Given the description of an element on the screen output the (x, y) to click on. 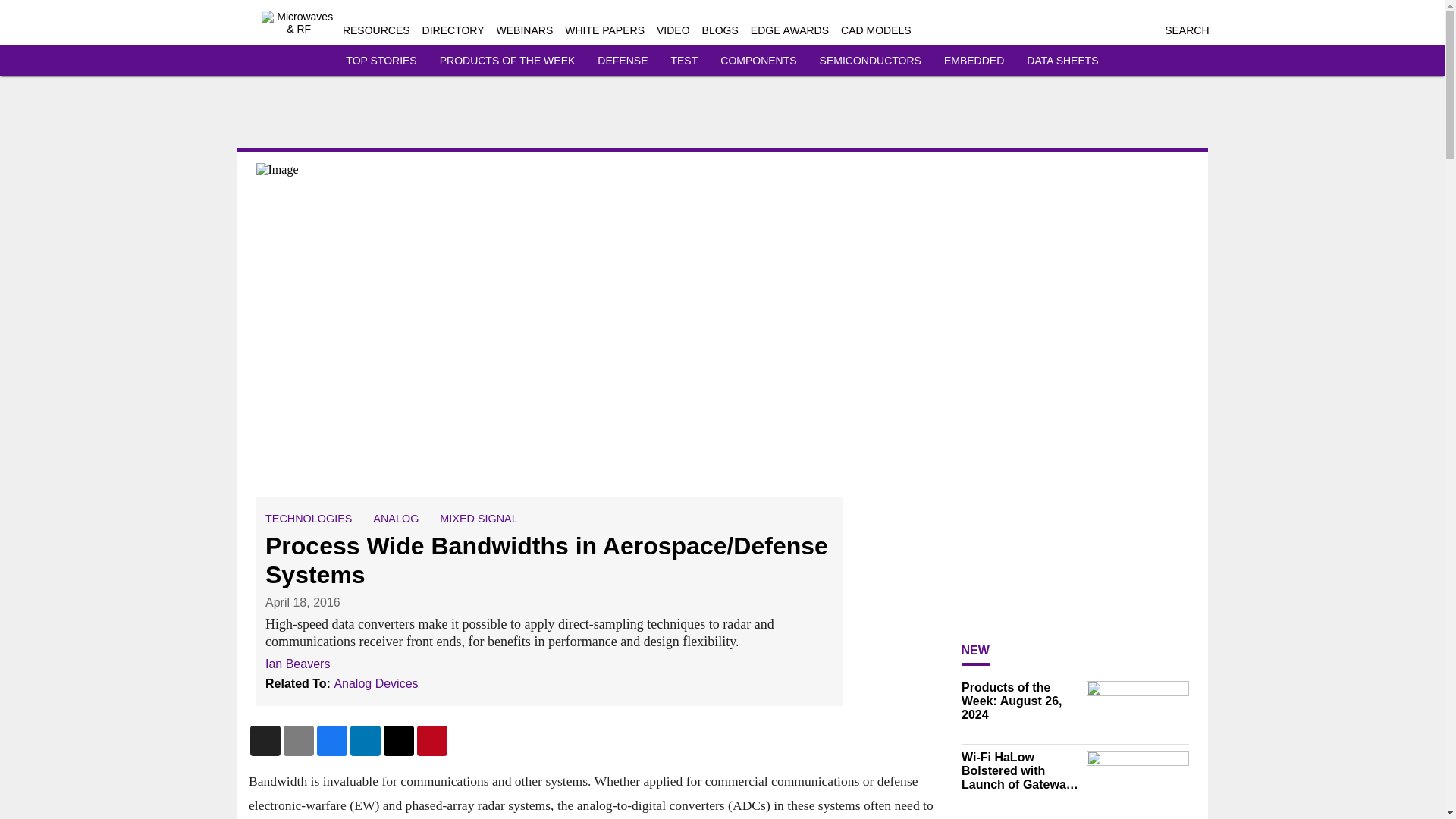
WEBINARS (524, 30)
MIXED SIGNAL (477, 518)
EDGE AWARDS (789, 30)
SEARCH (1186, 30)
EMBEDDED (973, 60)
SEMICONDUCTORS (870, 60)
TECHNOLOGIES (308, 518)
Analog Devices (375, 682)
DEFENSE (621, 60)
